Given the description of an element on the screen output the (x, y) to click on. 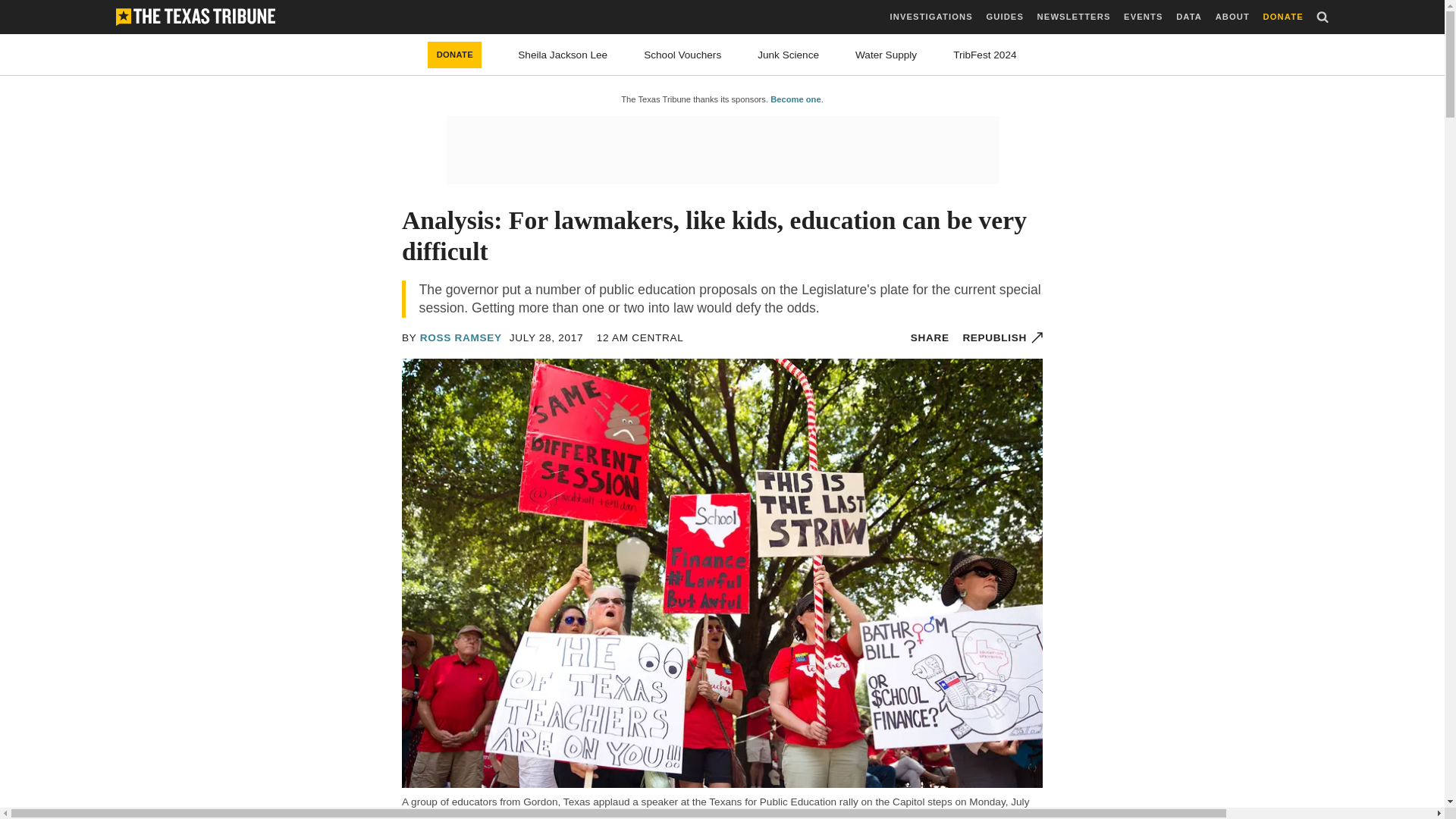
2017-07-28 00:01 CDT (640, 337)
INVESTIGATIONS (930, 17)
NEWSLETTERS (1073, 17)
Water Supply (886, 54)
School Vouchers (681, 54)
GUIDES (1004, 17)
Become one (795, 99)
Junk Science (787, 54)
DONATE (1283, 17)
ROSS RAMSEY (461, 337)
